Given the description of an element on the screen output the (x, y) to click on. 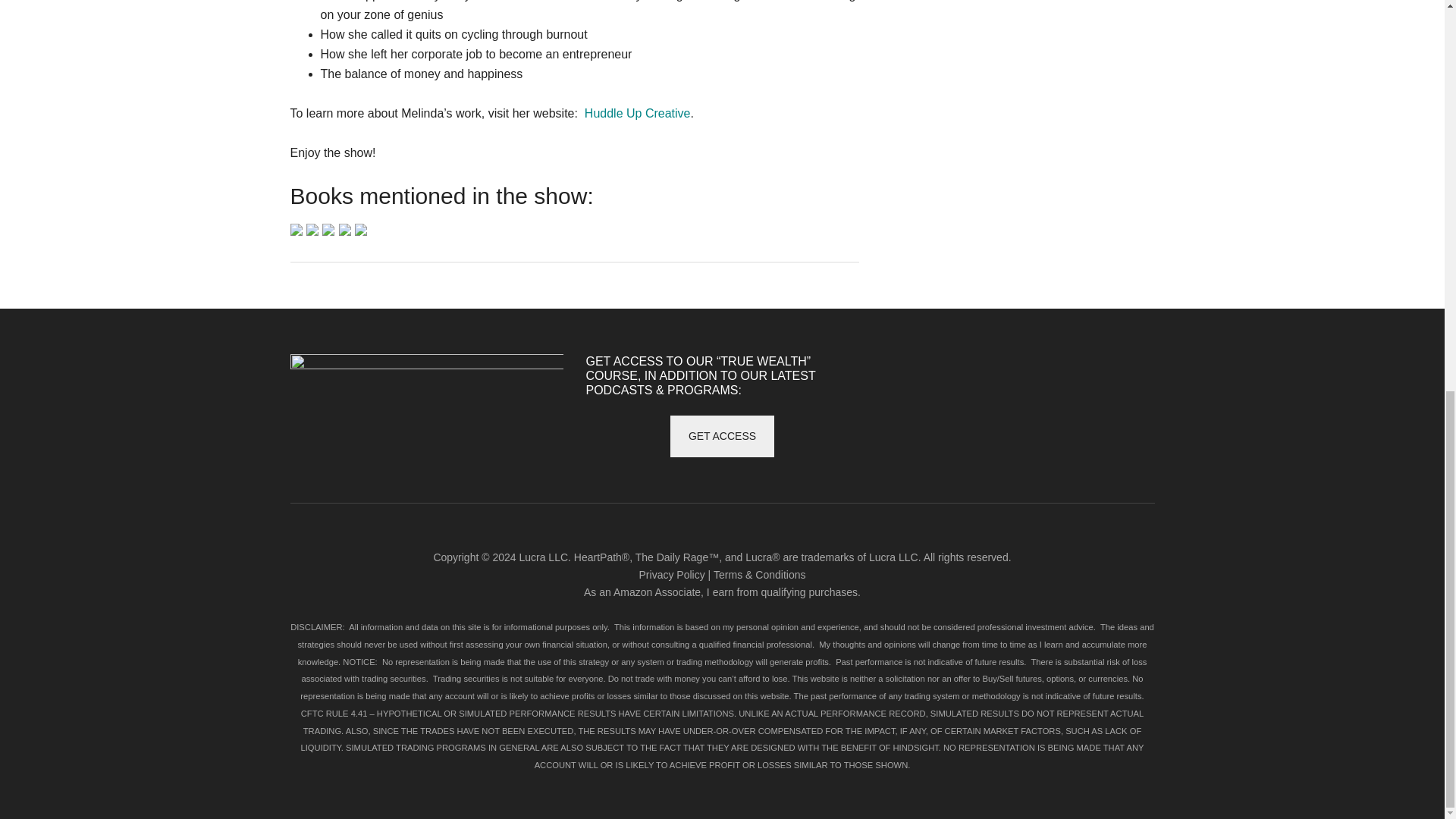
Huddle Up Creative (637, 113)
YouTube (935, 408)
Instagram (898, 371)
Facebook (935, 371)
LinkedIn (1008, 371)
Goodreads (1080, 371)
Amazon (1044, 371)
Privacy Policy (671, 574)
Spotify (1117, 371)
GET ACCESS (721, 436)
